Given the description of an element on the screen output the (x, y) to click on. 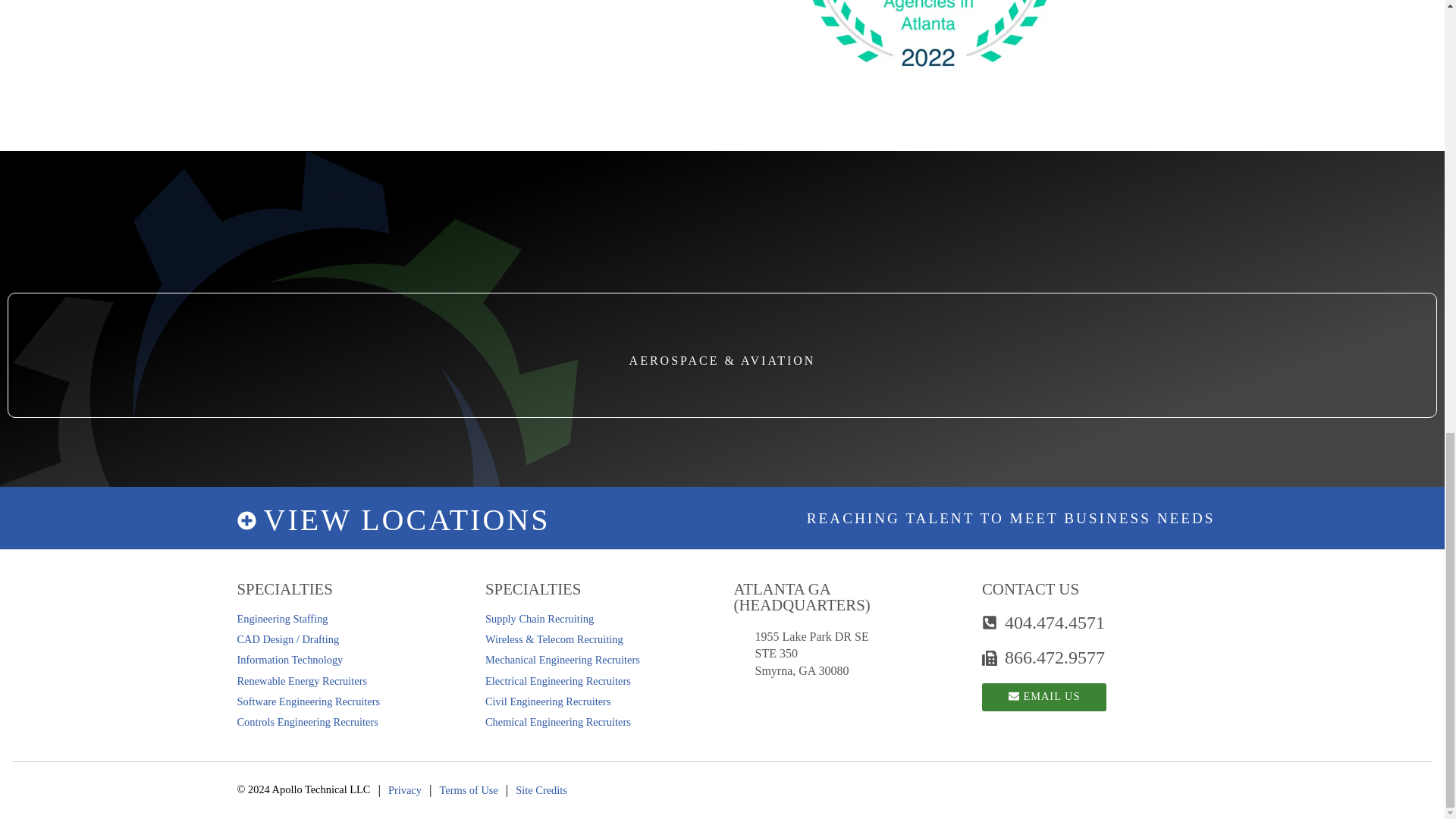
Follow Apollo Technical LLC on Facebook (910, 786)
Follow Apollo Technical LLC on Pinterest (1035, 786)
Our Blog RSS Feed (1119, 786)
Connect with Apollo Technical LLC on LinkedIn (994, 786)
Follow Apollo Technical LLC on Twitter (952, 786)
Our Blog (1077, 786)
